Given the description of an element on the screen output the (x, y) to click on. 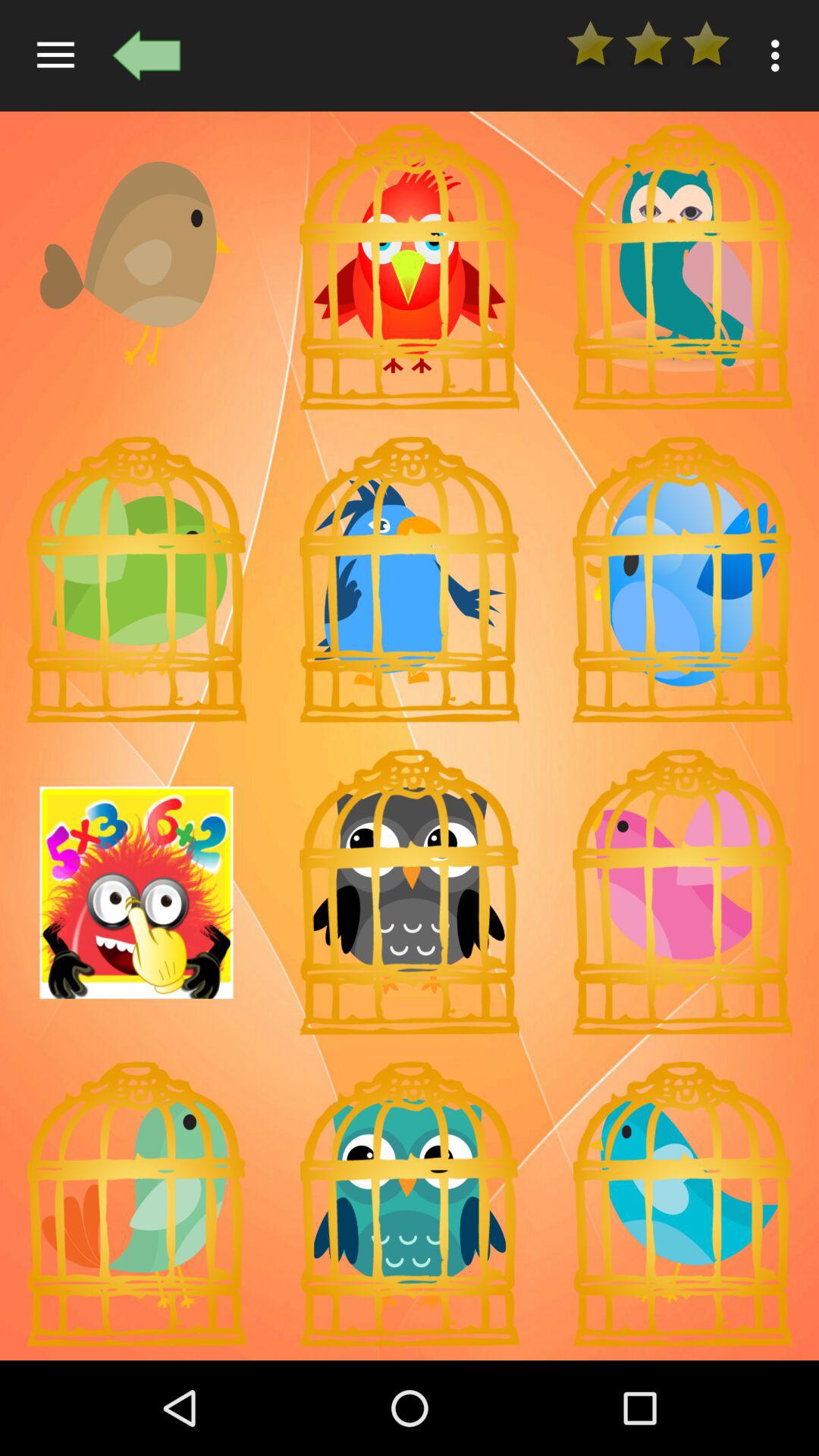
locked avatar (682, 1204)
